Given the description of an element on the screen output the (x, y) to click on. 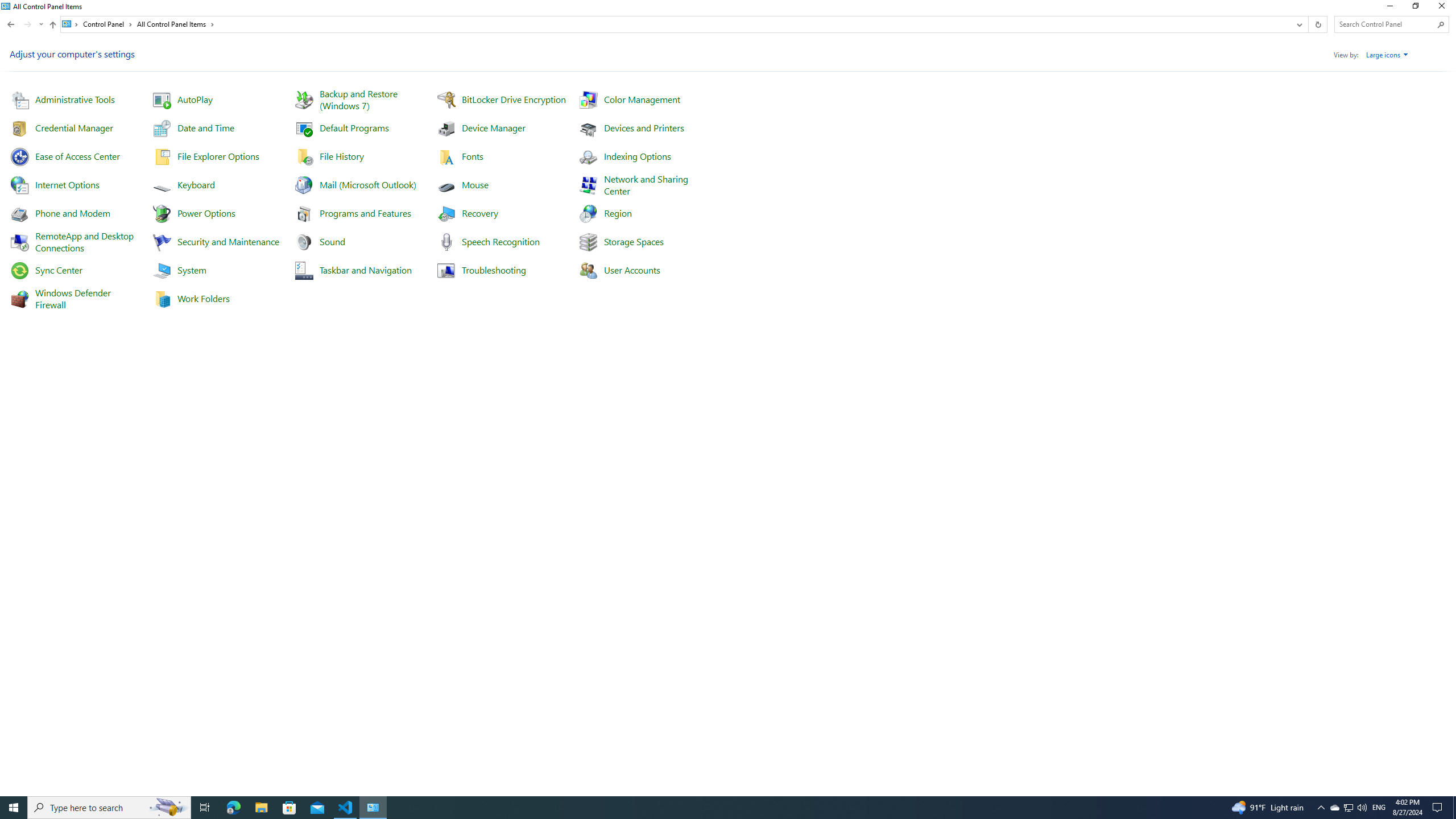
System (6, 6)
Date and Time (205, 127)
Windows Defender Firewall (74, 298)
File Explorer Options (218, 155)
System (192, 269)
All Control Panel Items (175, 23)
Restore (1415, 8)
Recent locations (40, 23)
Credential Manager (74, 127)
Large icons (1386, 54)
Forward (Alt + Right Arrow) (27, 23)
Troubleshooting (493, 269)
Icon (587, 269)
